Given the description of an element on the screen output the (x, y) to click on. 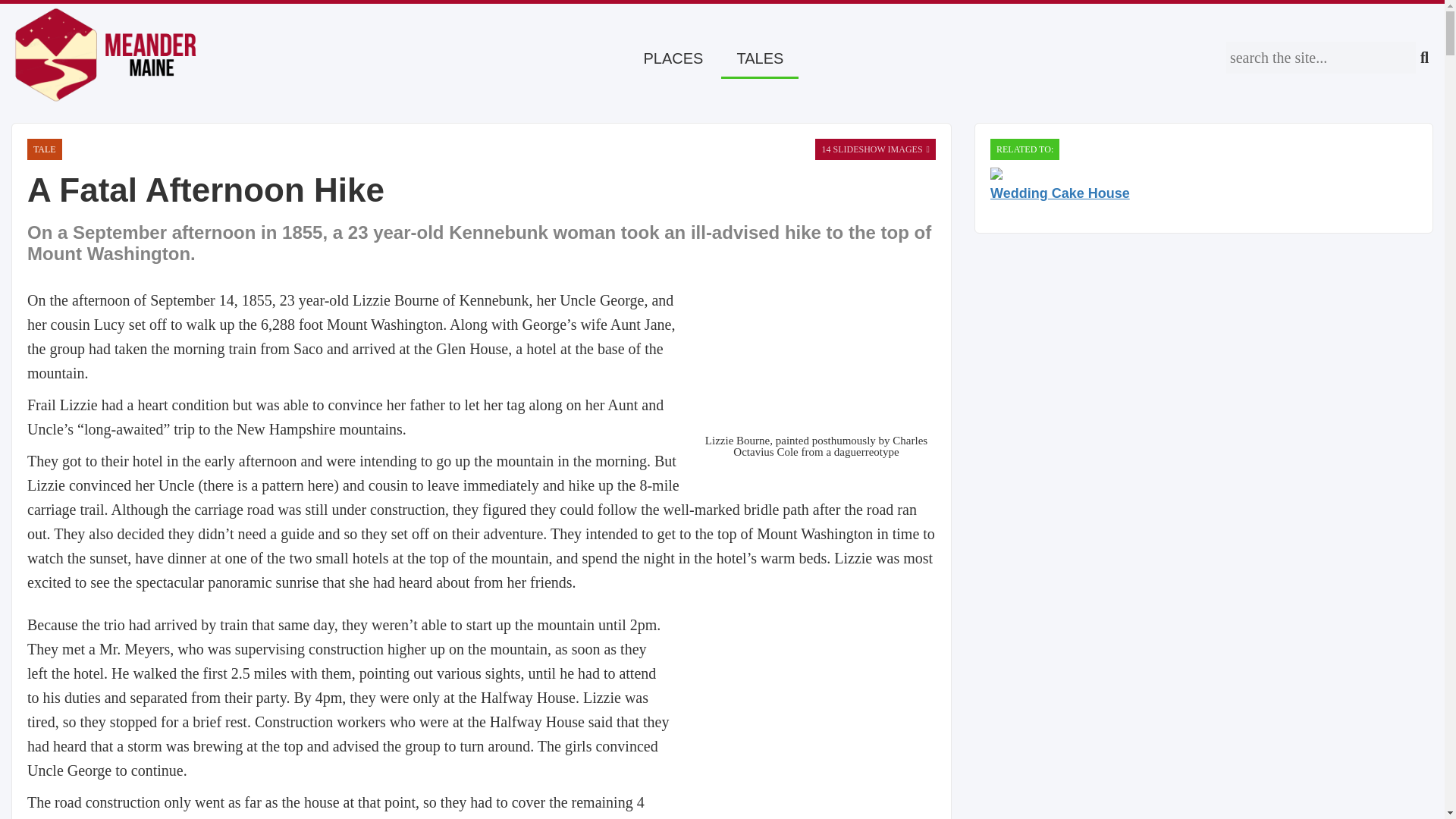
PLACES (673, 59)
14 SLIDESHOW IMAGES (875, 149)
Search (1320, 57)
14 SLIDESHOW IMAGES (875, 149)
Wedding Cake House (1203, 183)
TALES (758, 59)
